Given the description of an element on the screen output the (x, y) to click on. 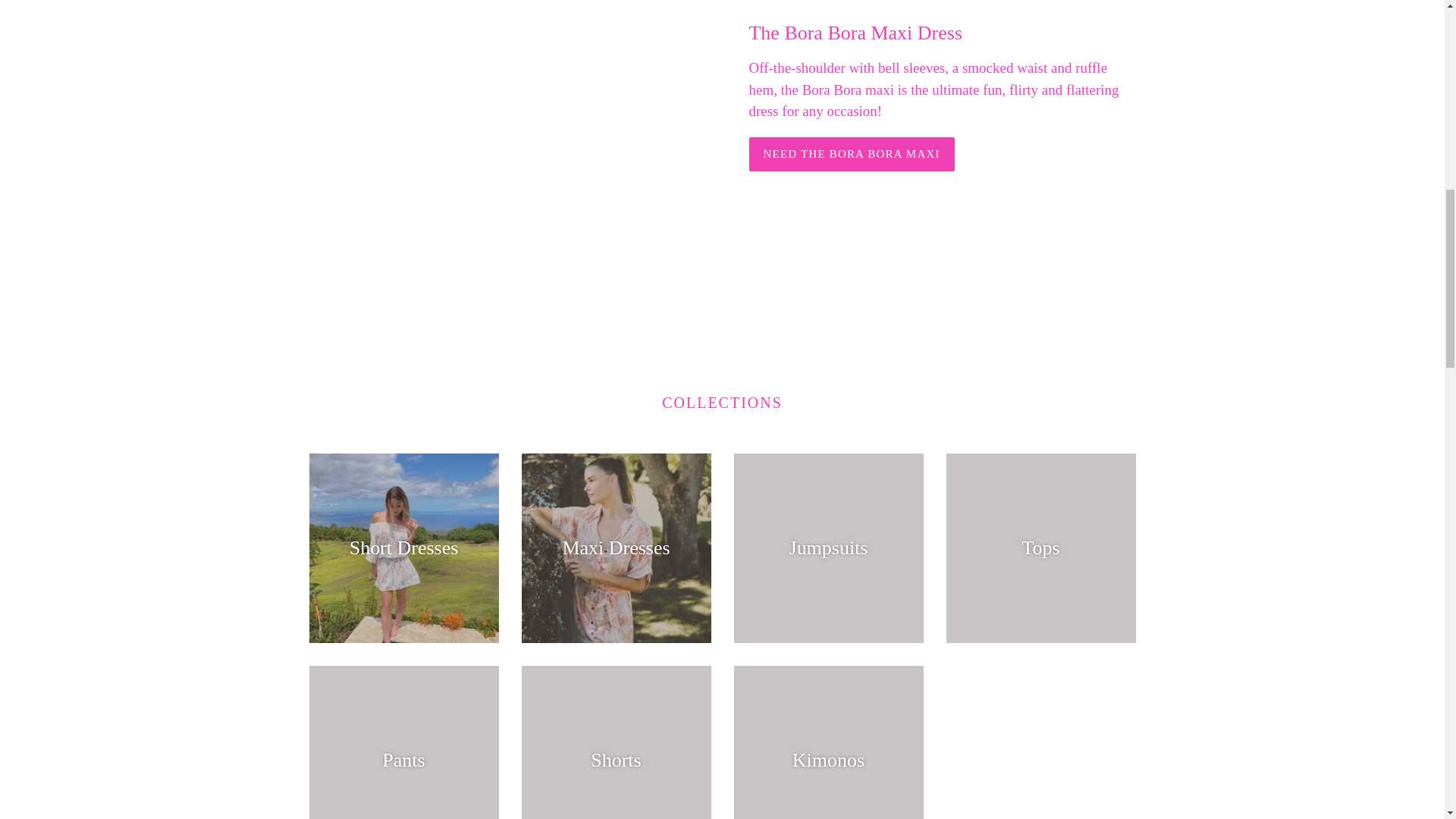
Tops (1040, 547)
Maxi Dresses (616, 547)
Kimonos (828, 742)
NEED THE BORA BORA MAXI (852, 154)
Short Dresses (403, 547)
Pants (403, 742)
Shorts (616, 742)
Jumpsuits (828, 547)
